Given the description of an element on the screen output the (x, y) to click on. 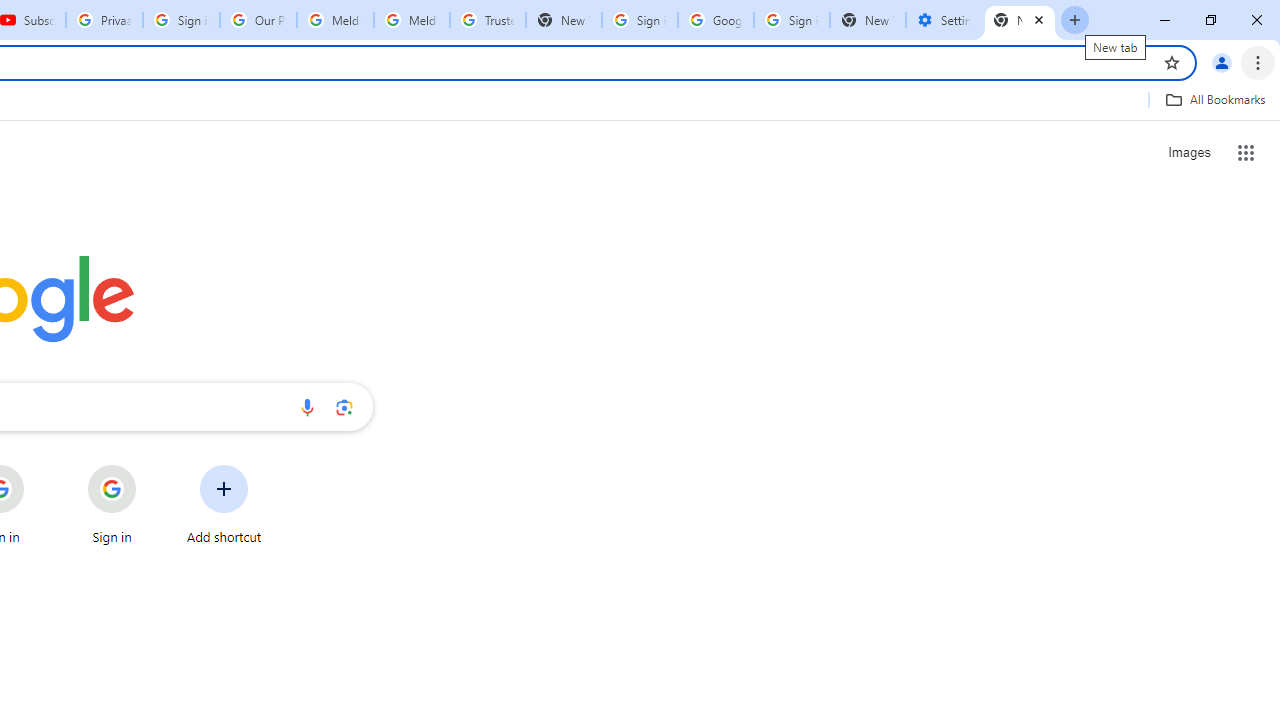
Add shortcut (223, 504)
Sign in - Google Accounts (639, 20)
Google Cybersecurity Innovations - Google Safety Center (715, 20)
New Tab (867, 20)
